Given the description of an element on the screen output the (x, y) to click on. 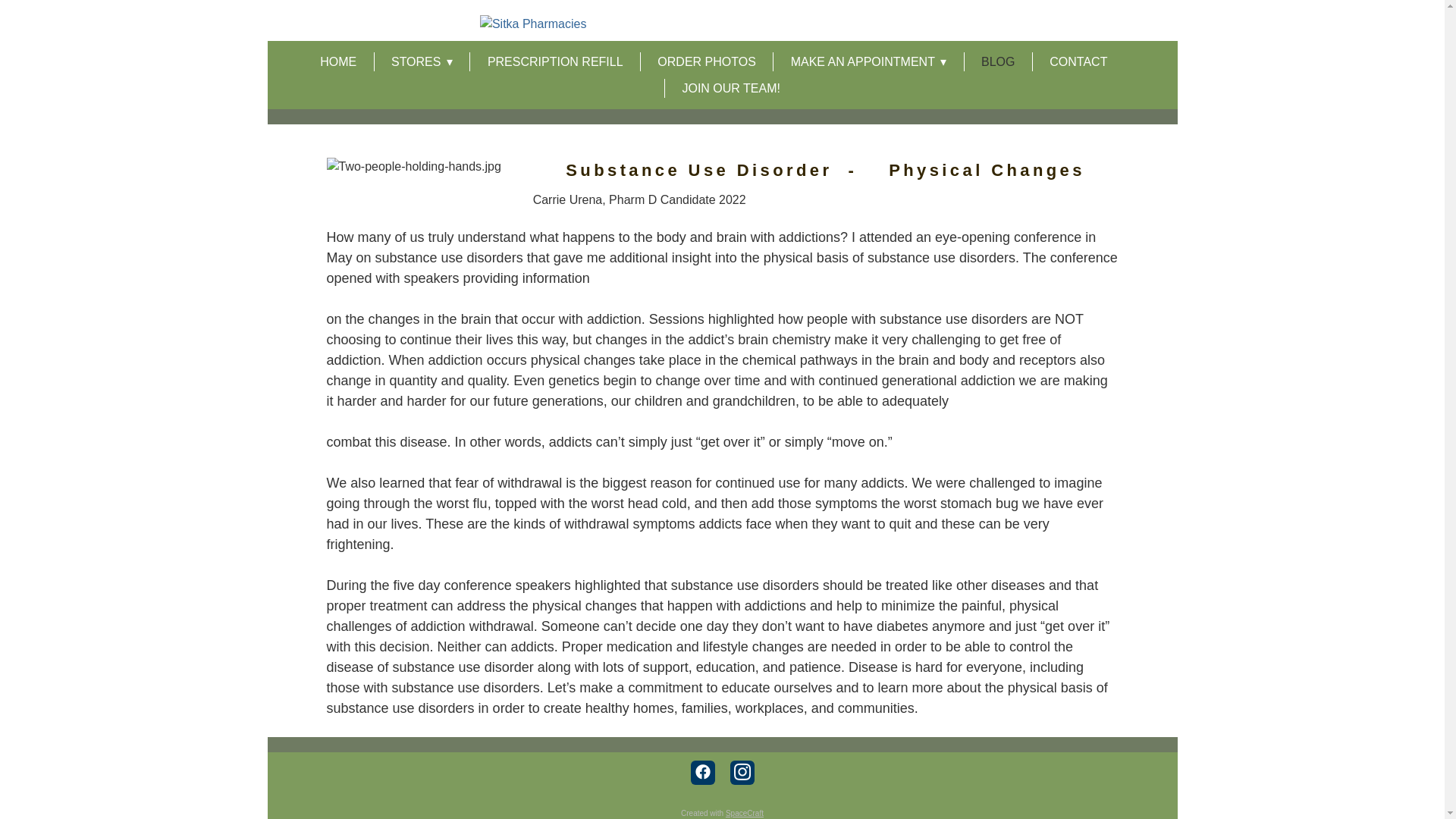
BLOG (997, 62)
JOIN OUR TEAM! (730, 88)
ORDER PHOTOS (706, 62)
PRESCRIPTION REFILL (555, 62)
CONTACT (1077, 62)
HOME (338, 62)
Sitka Pharmacies (721, 24)
Created with SpaceCraft (721, 813)
